Given the description of an element on the screen output the (x, y) to click on. 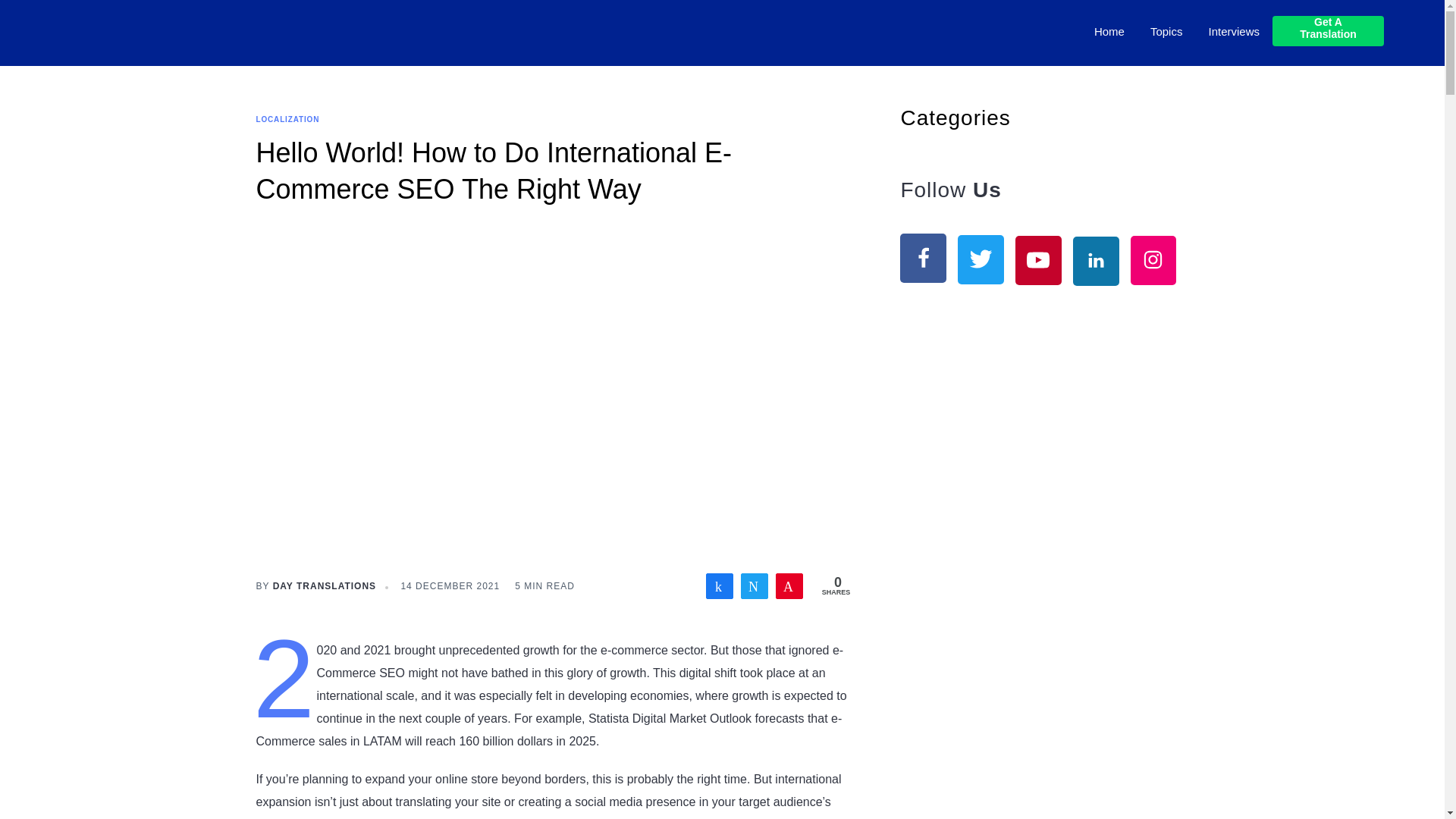
Interviews (1233, 31)
LOCALIZATION (288, 119)
Get A Translation (1328, 30)
Topics (1166, 31)
DAY TRANSLATIONS (324, 585)
